Given the description of an element on the screen output the (x, y) to click on. 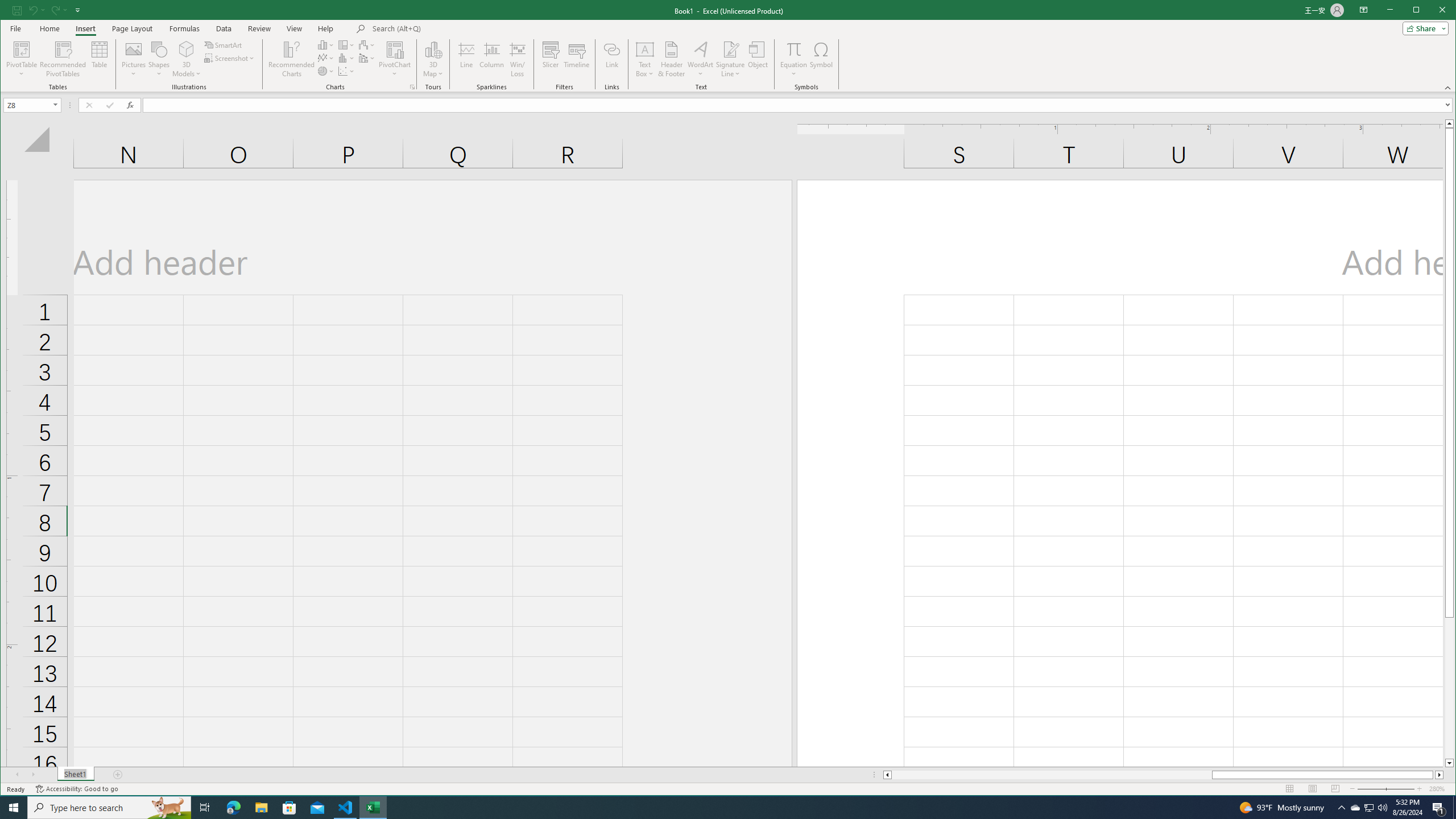
Microsoft Edge (233, 807)
Signature Line (729, 48)
Insert Line or Area Chart (325, 57)
Draw Horizontal Text Box (644, 48)
Insert Scatter (X, Y) or Bubble Chart (346, 70)
Screenshot (229, 57)
Excel - 1 running window (373, 807)
Header & Footer... (670, 59)
